Given the description of an element on the screen output the (x, y) to click on. 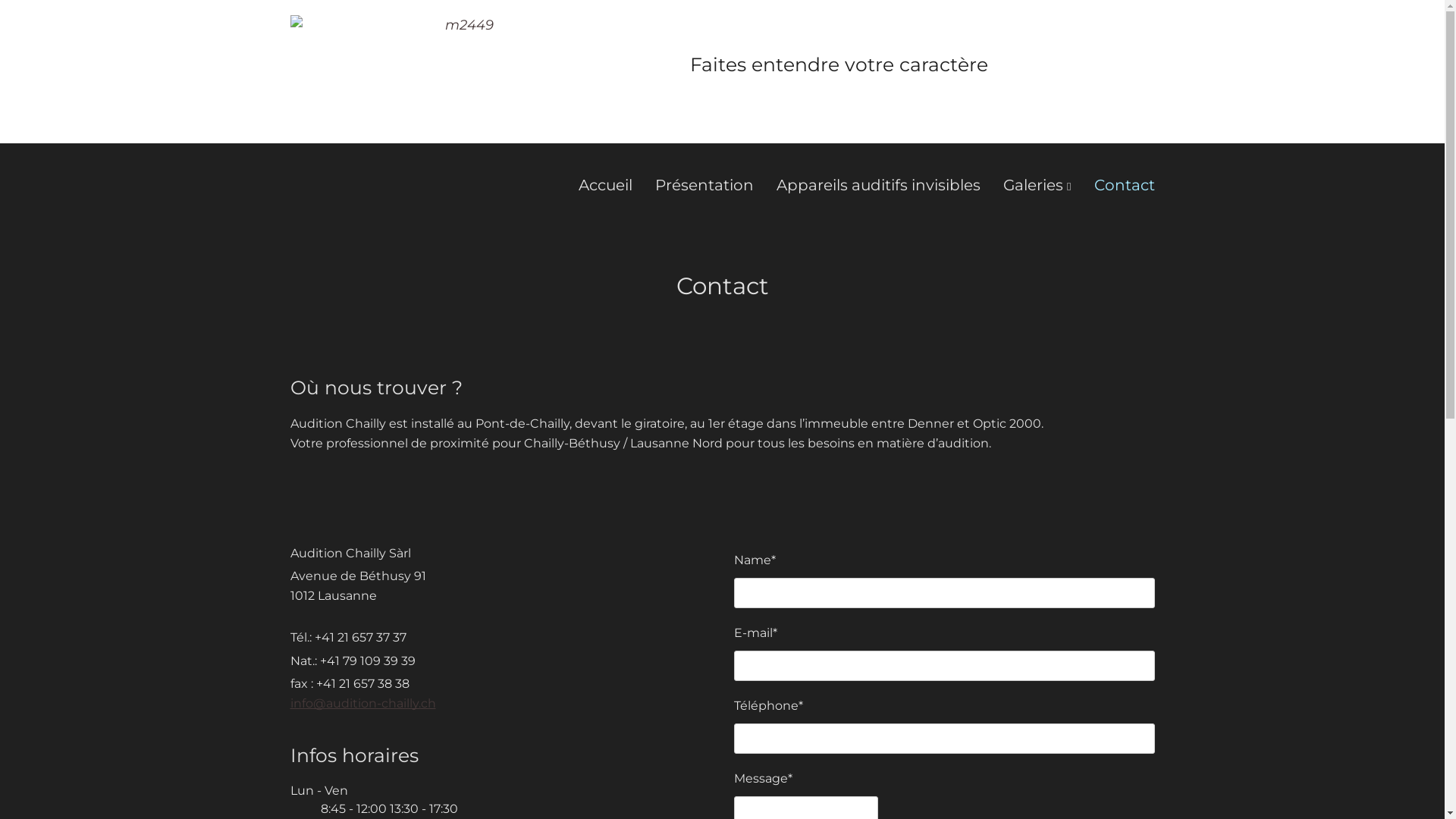
info@audition-chailly.ch Element type: text (362, 703)
Contact Element type: text (1112, 184)
Appareils auditifs invisibles Element type: text (866, 184)
Accueil Element type: text (593, 184)
Galeries Element type: text (1025, 184)
